Given the description of an element on the screen output the (x, y) to click on. 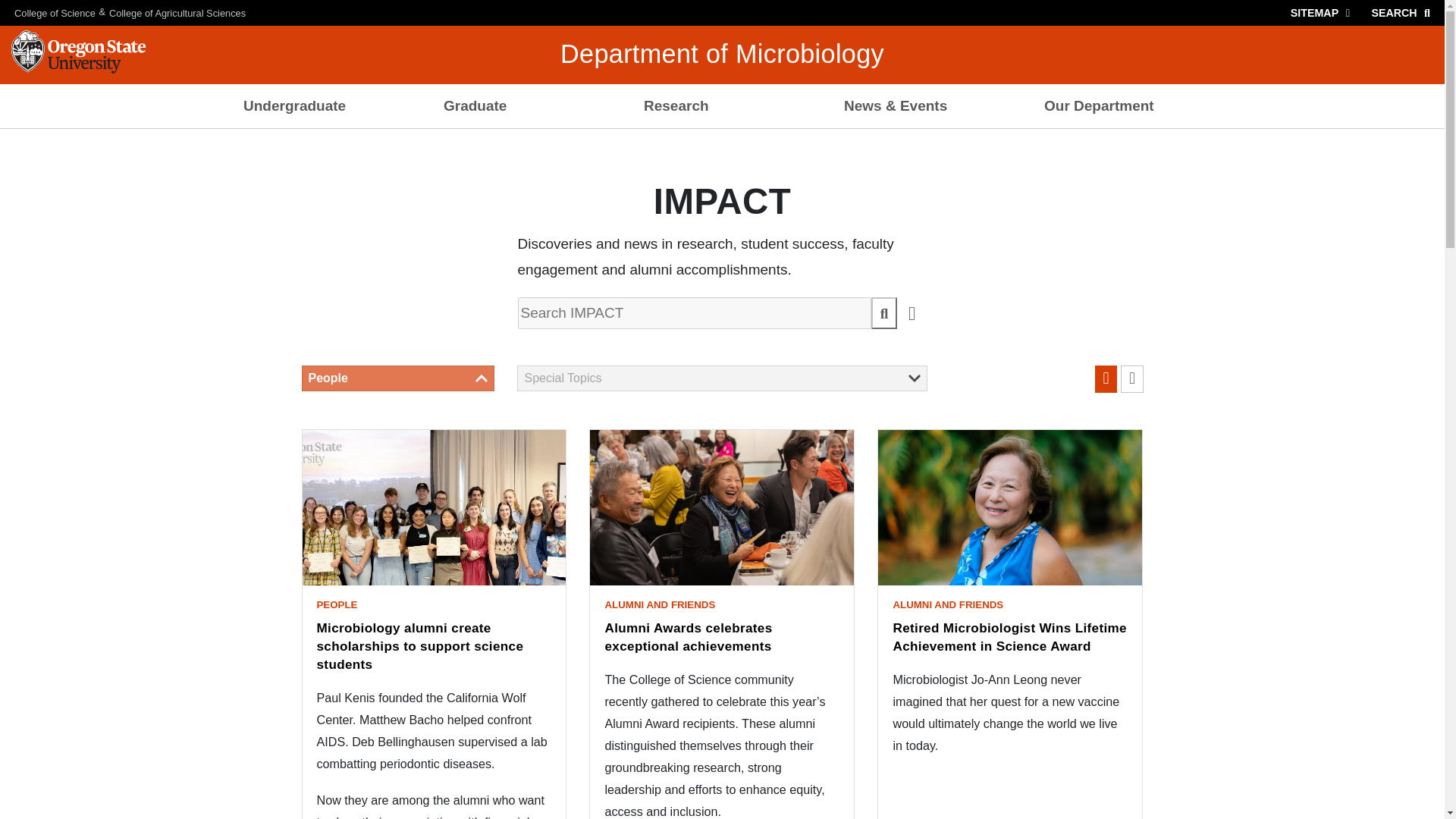
SITEMAP (1323, 12)
Research (721, 105)
Academics (521, 142)
College of Science (48, 12)
College of Agricultural Sciences (177, 12)
Aquatic Microbiology and Ecology Research (721, 151)
Undergraduate (321, 105)
Majors, Minors, Options (321, 142)
Graduate (521, 105)
